Given the description of an element on the screen output the (x, y) to click on. 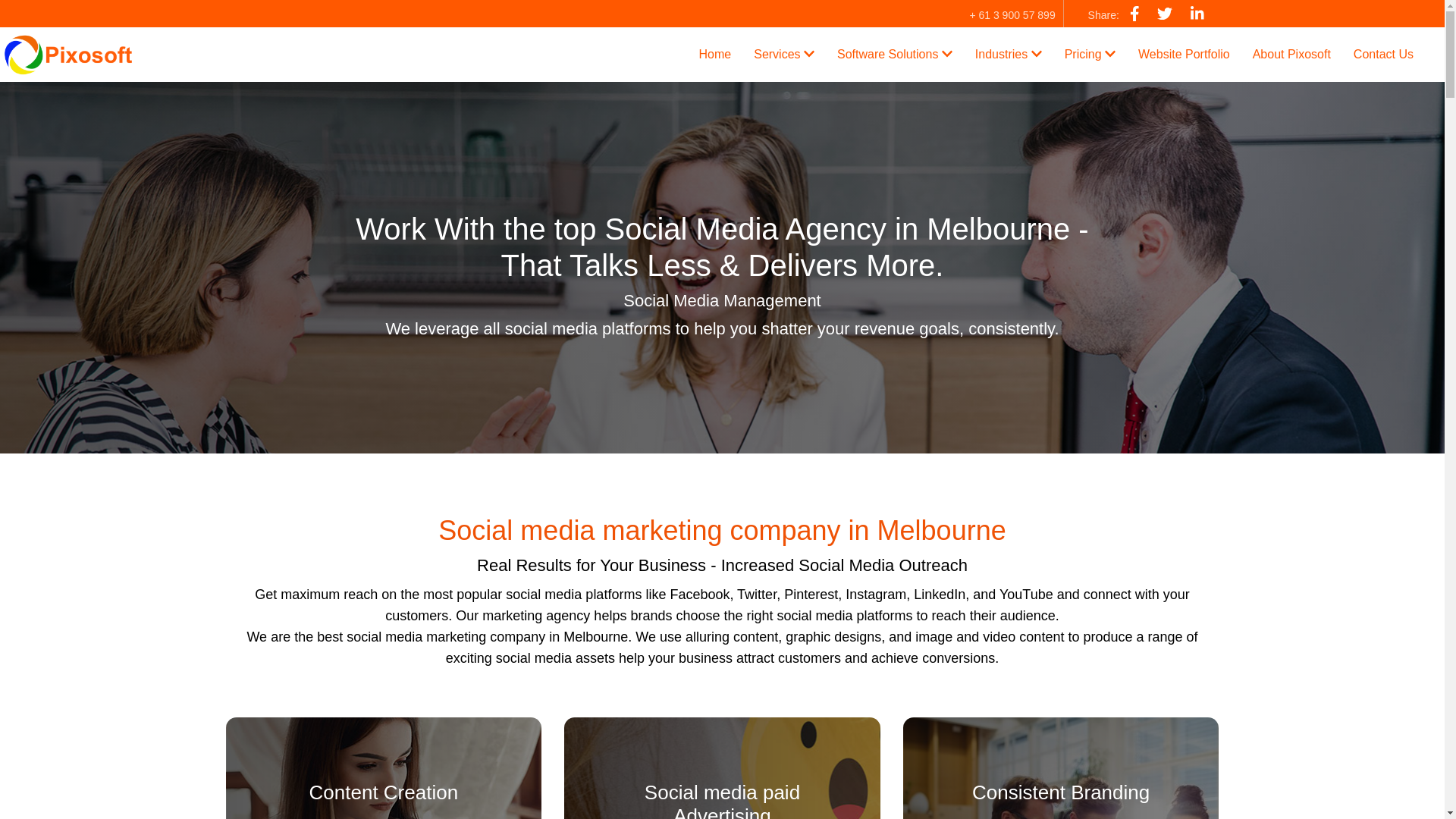
Home (714, 54)
Industries (1007, 54)
Pricing (1089, 54)
Software Solutions (894, 54)
Services (783, 54)
